Given the description of an element on the screen output the (x, y) to click on. 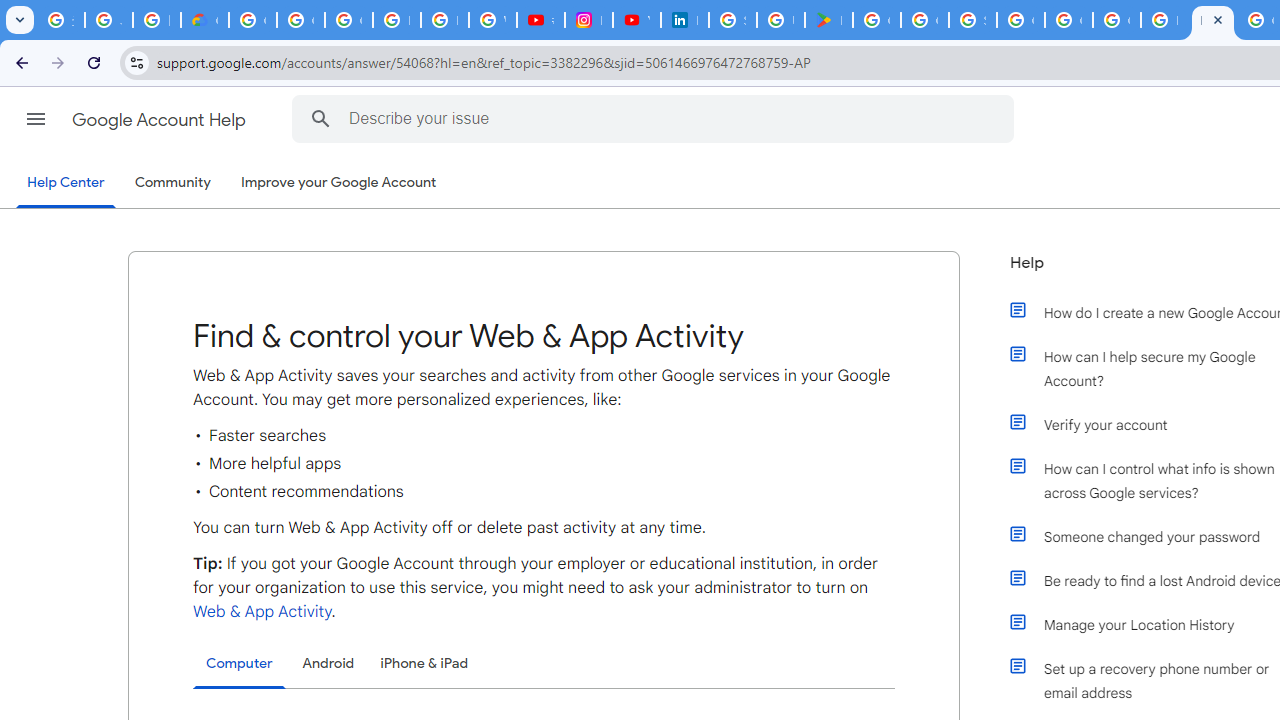
Search Help Center (320, 118)
iPhone & iPad (424, 663)
Privacy Help Center - Policies Help (444, 20)
Android (328, 663)
Google Cloud Platform (1020, 20)
